Given the description of an element on the screen output the (x, y) to click on. 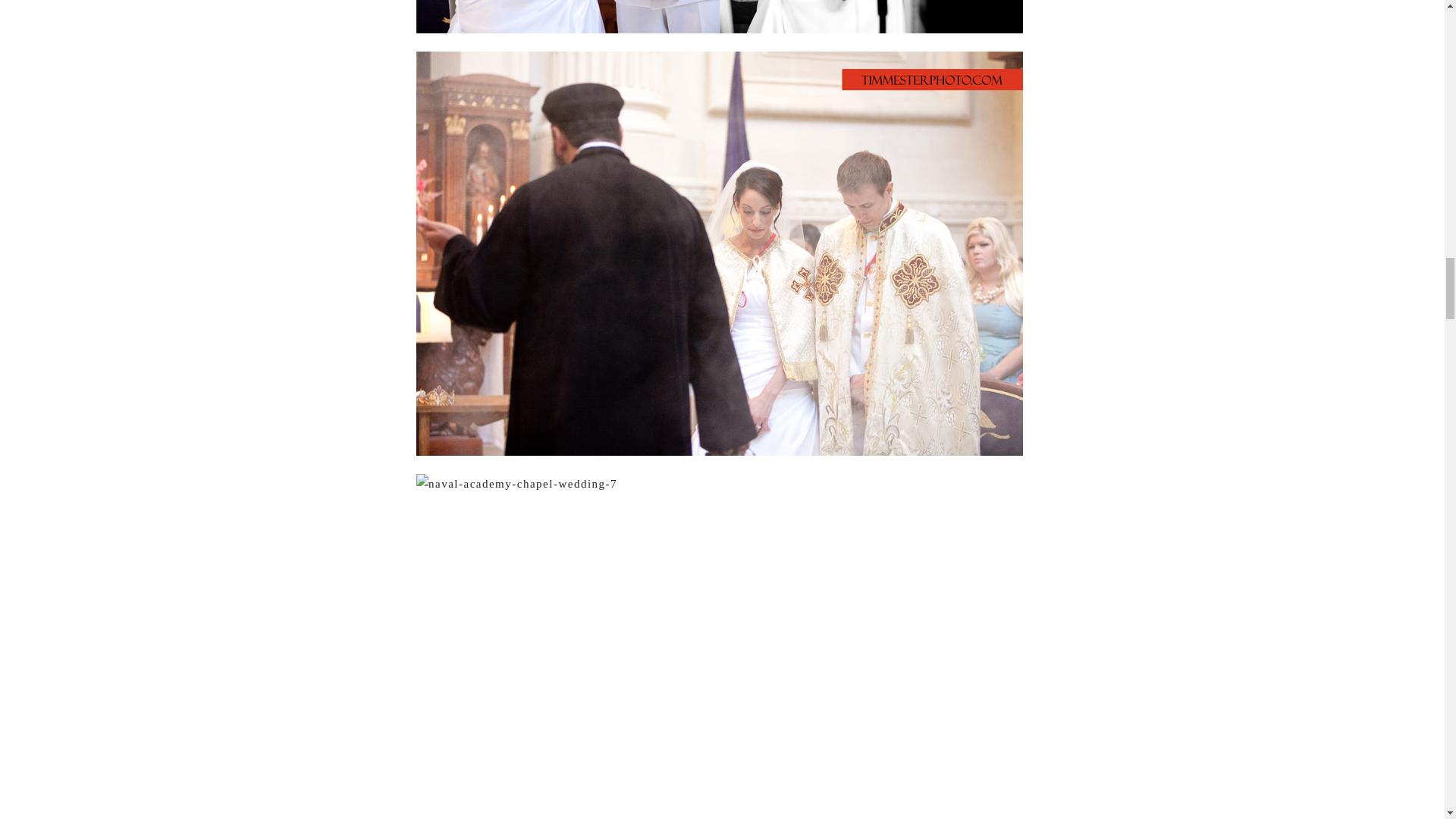
naval-academy-chapel-wedding-4 (719, 16)
